Given the description of an element on the screen output the (x, y) to click on. 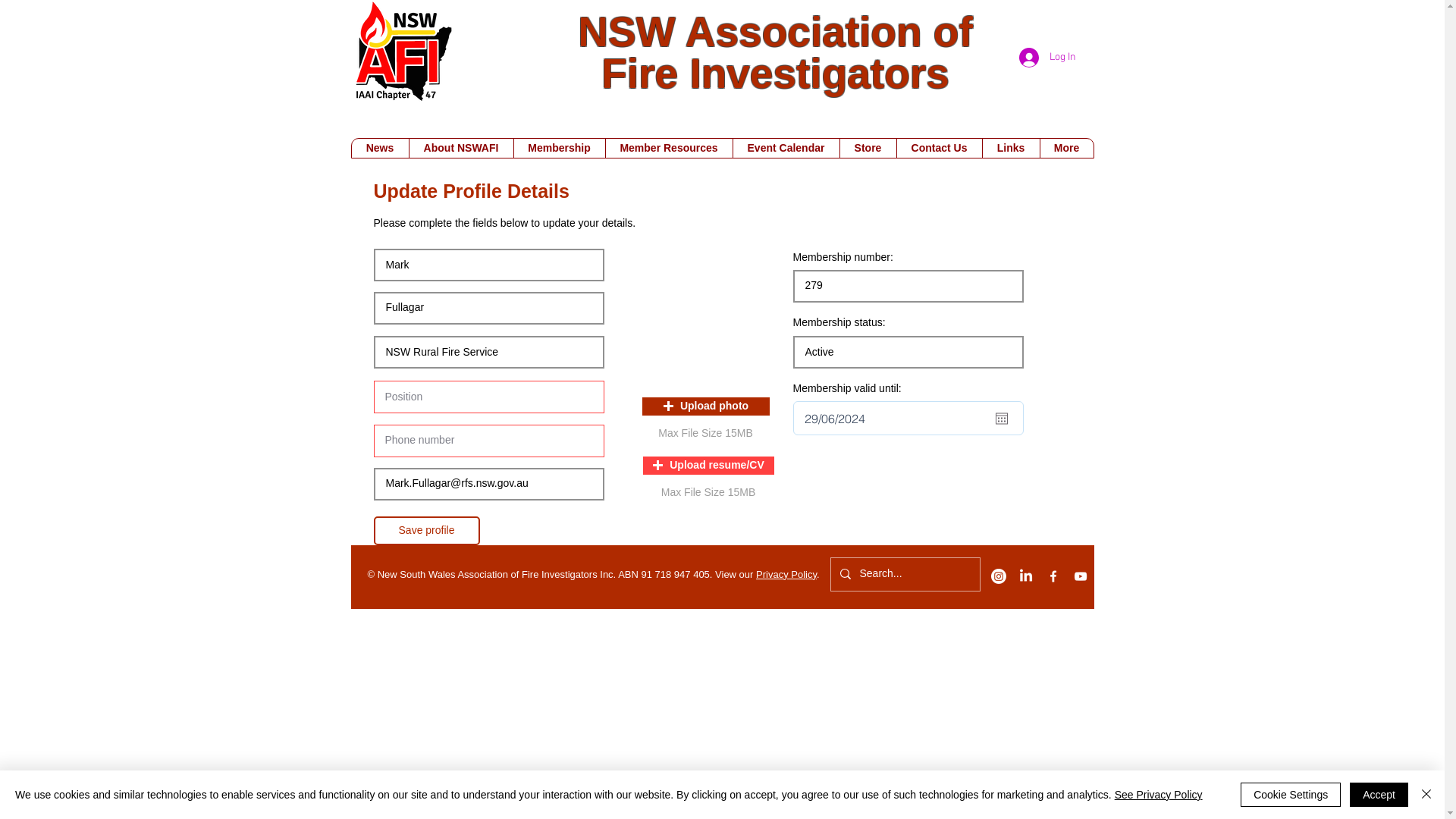
News Element type: text (379, 147)
Contact Us Element type: text (939, 147)
Save profile Element type: text (426, 530)
Membership Element type: text (558, 147)
Member Resources Element type: text (668, 147)
Cookie Settings Element type: text (1290, 794)
Accept Element type: text (1378, 794)
NSW Association of
Fire Investigators Element type: text (774, 52)
See Privacy Policy Element type: text (1158, 794)
Privacy Policy Element type: text (786, 574)
About NSWAFI Element type: text (459, 147)
Links Element type: text (1009, 147)
Log In Element type: text (1047, 57)
Store Element type: text (866, 147)
Event Calendar Element type: text (785, 147)
